Given the description of an element on the screen output the (x, y) to click on. 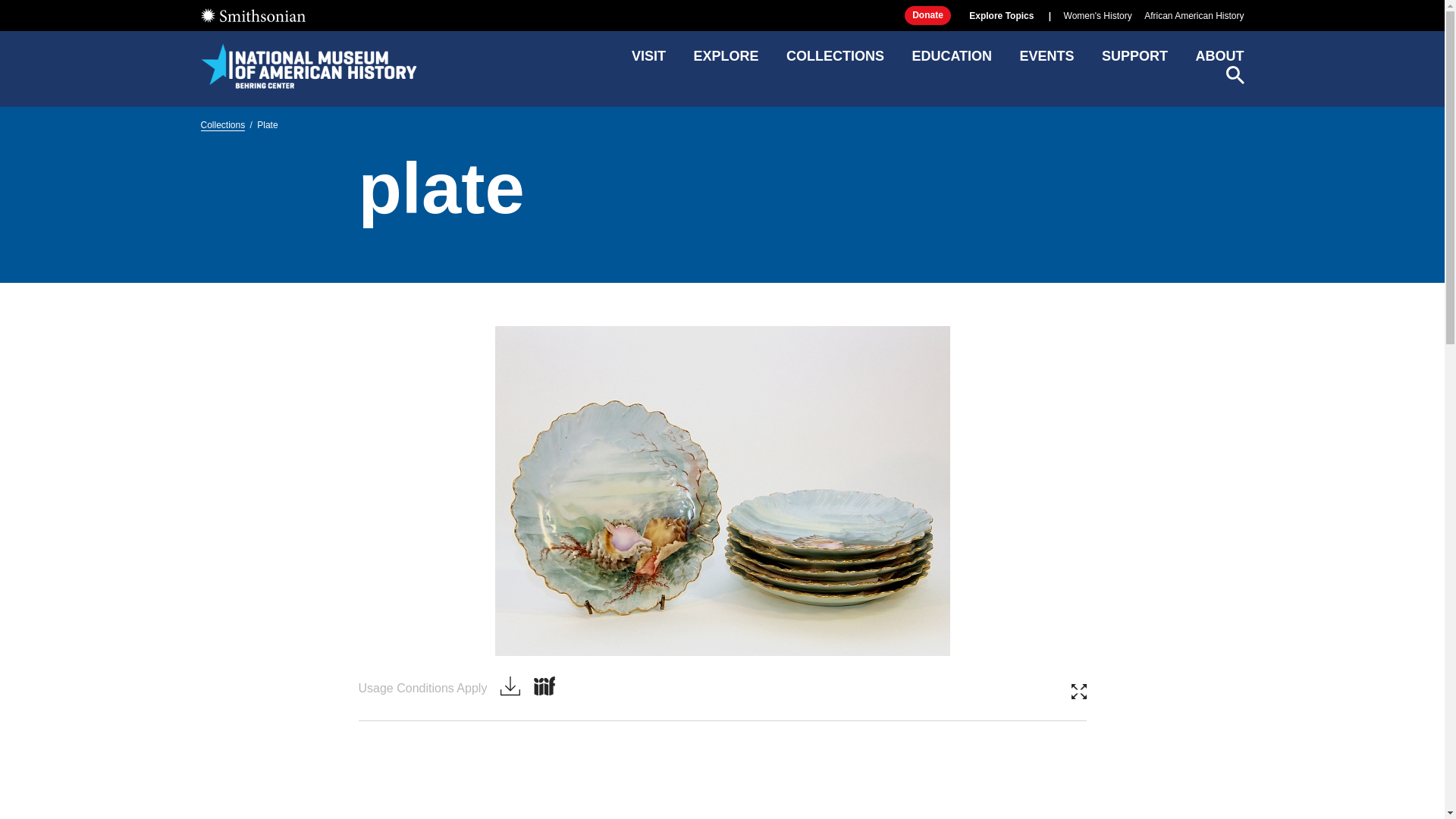
African American History (1193, 15)
COLLECTIONS (834, 60)
Click to view download files (510, 687)
Collections (222, 125)
VISIT (648, 60)
SEARCH (1234, 75)
Smithsonian (252, 15)
ABOUT (1219, 60)
National Museum of American History (308, 65)
EDUCATION (951, 60)
Donate (927, 15)
Women's History (422, 688)
Enlarge image (1098, 15)
